Given the description of an element on the screen output the (x, y) to click on. 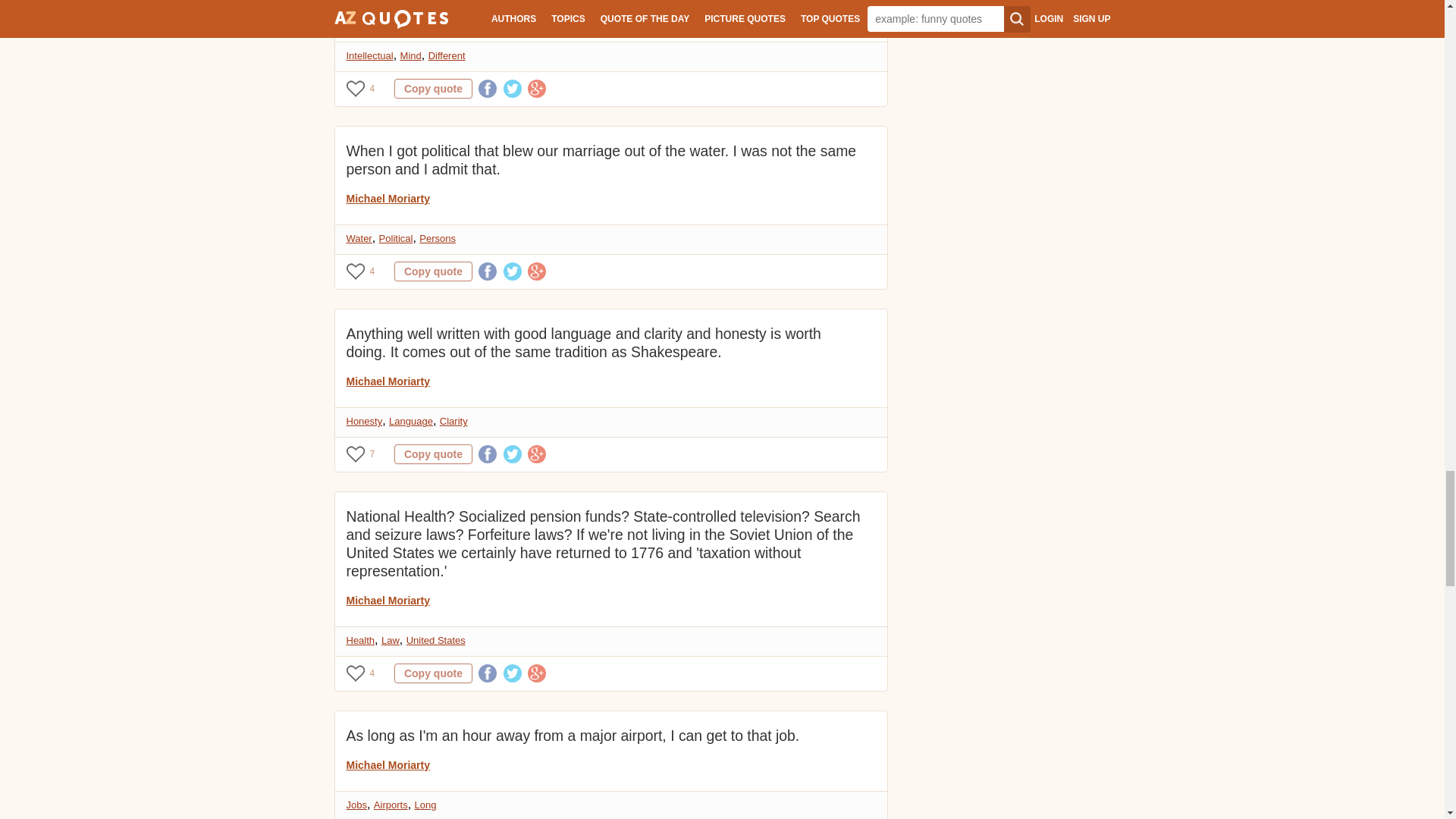
Quote is copied (432, 673)
Quote is copied (432, 88)
Quote is copied (432, 454)
Quote is copied (432, 271)
